Given the description of an element on the screen output the (x, y) to click on. 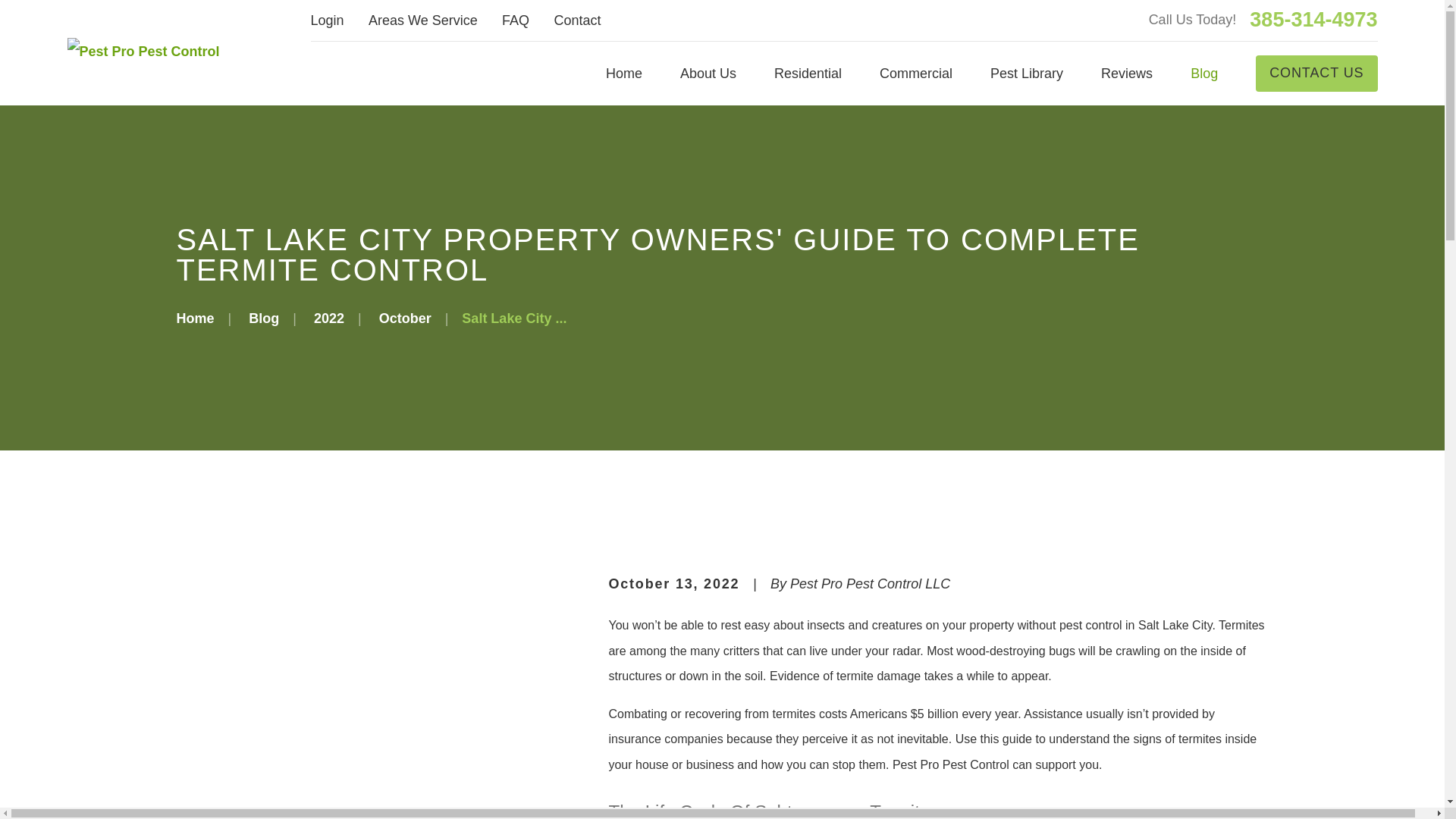
Go Home (195, 318)
About Us (707, 73)
Home (623, 73)
FAQ (515, 20)
Contact (576, 20)
Commercial (915, 73)
Residential (807, 73)
Pest Library (1026, 73)
Login (327, 20)
Areas We Service (422, 20)
